Given the description of an element on the screen output the (x, y) to click on. 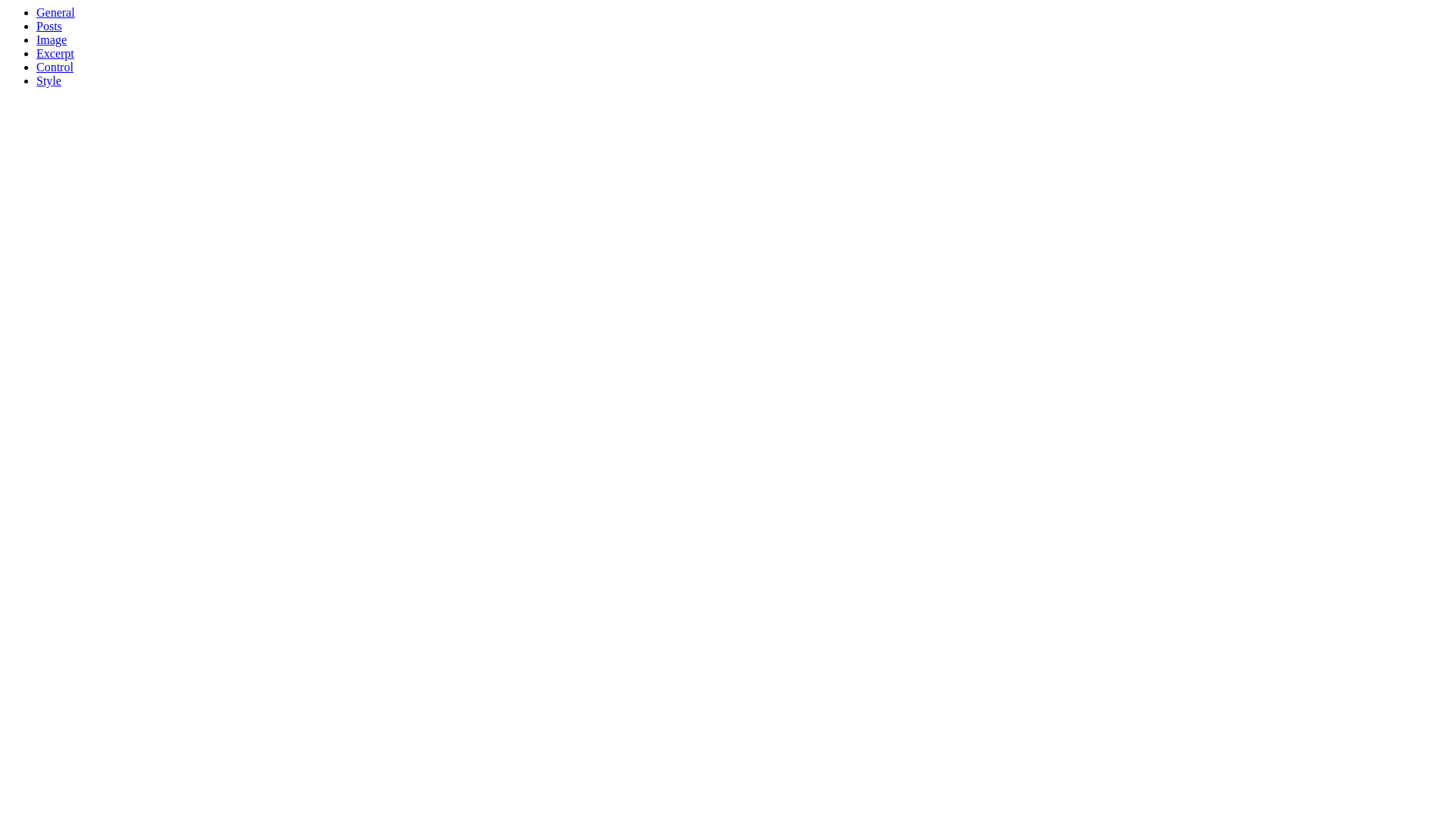
Excerpt Element type: text (55, 53)
Posts Element type: text (49, 25)
General Element type: text (55, 12)
Style Element type: text (48, 80)
Image Element type: text (51, 39)
Control Element type: text (54, 66)
